Given the description of an element on the screen output the (x, y) to click on. 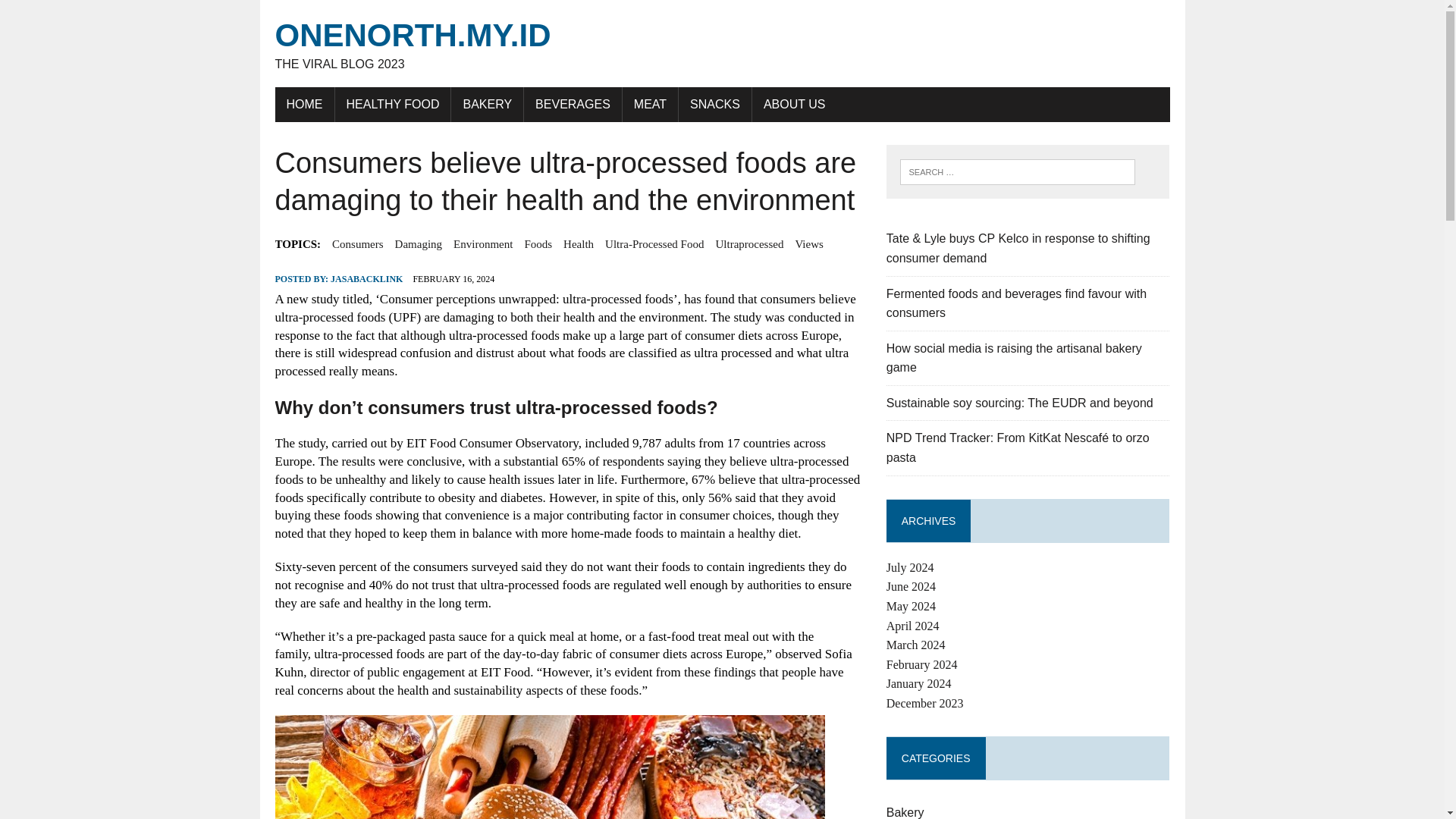
BAKERY (486, 104)
ABOUT US (794, 104)
Views (808, 244)
Environment (482, 244)
onenorth.my.id (722, 43)
HEALTHY FOOD (392, 104)
Sustainable soy sourcing: The EUDR and beyond (1019, 402)
Ultra-Processed Food (654, 244)
HOME (304, 104)
Damaging (418, 244)
BEVERAGES (572, 104)
Health (578, 244)
Search (75, 14)
Fermented foods and beverages find favour with consumers (1016, 303)
MEAT (650, 104)
